Given the description of an element on the screen output the (x, y) to click on. 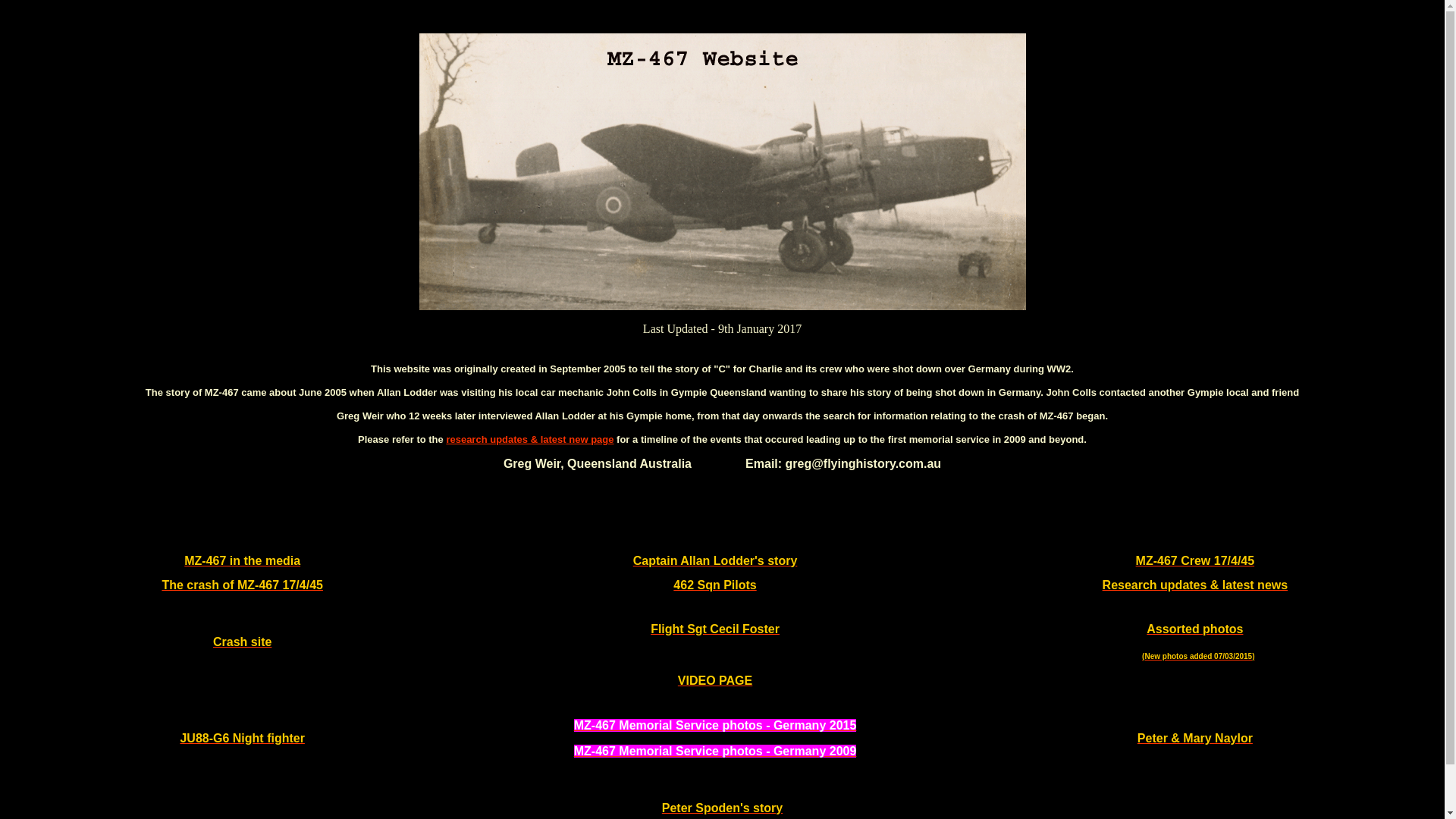
462 Sqn Pilots Element type: text (714, 583)
Crash site Element type: text (242, 641)
MZ-467 in the media Element type: text (242, 559)
Captain Allan Lodder's story Element type: text (715, 559)
Research updates & latest news Element type: text (1195, 583)
JU88-G6 Night fighter Element type: text (241, 737)
(New photos added 07/03/2015) Element type: text (1198, 656)
VIDEO PAGE Element type: text (714, 680)
MZ-467 Memorial Service photos - Germany 2015 Element type: text (715, 724)
MZ-467 Memorial Service photos - Germany 2009 Element type: text (715, 750)
Assorted photos Element type: text (1194, 628)
Peter & Mary Naylor Element type: text (1194, 737)
The crash of MZ-467 17/4/45 Element type: text (242, 583)
Peter Spoden's story Element type: text (722, 807)
MZ-467 Crew 17/4/45 Element type: text (1195, 559)
research updates & latest new page Element type: text (529, 439)
Flight Sgt Cecil Foster Element type: text (714, 628)
